Given the description of an element on the screen output the (x, y) to click on. 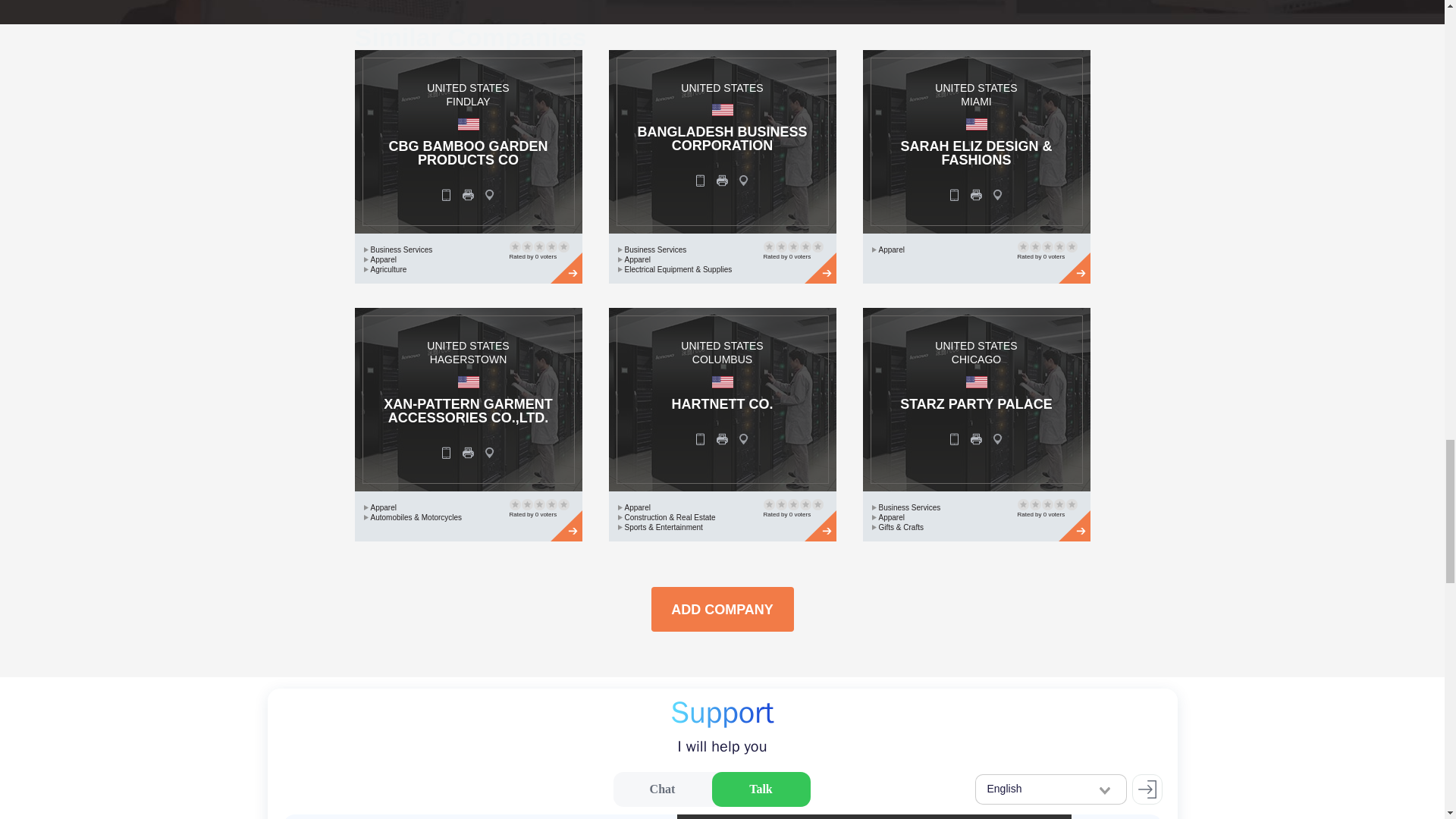
FINDLAY (467, 101)
UNITED STATES (975, 87)
HAGERSTOWN (467, 358)
UNITED STATES (721, 345)
UNITED STATES (467, 87)
UNITED STATES (721, 87)
XAN-PATTERN GARMENT ACCESSORIES CO.,LTD. (467, 410)
CBG BAMBOO GARDEN PRODUCTS CO (467, 152)
MIAMI (975, 101)
BANGLADESH BUSINESS CORPORATION (721, 138)
UNITED STATES (467, 345)
